Given the description of an element on the screen output the (x, y) to click on. 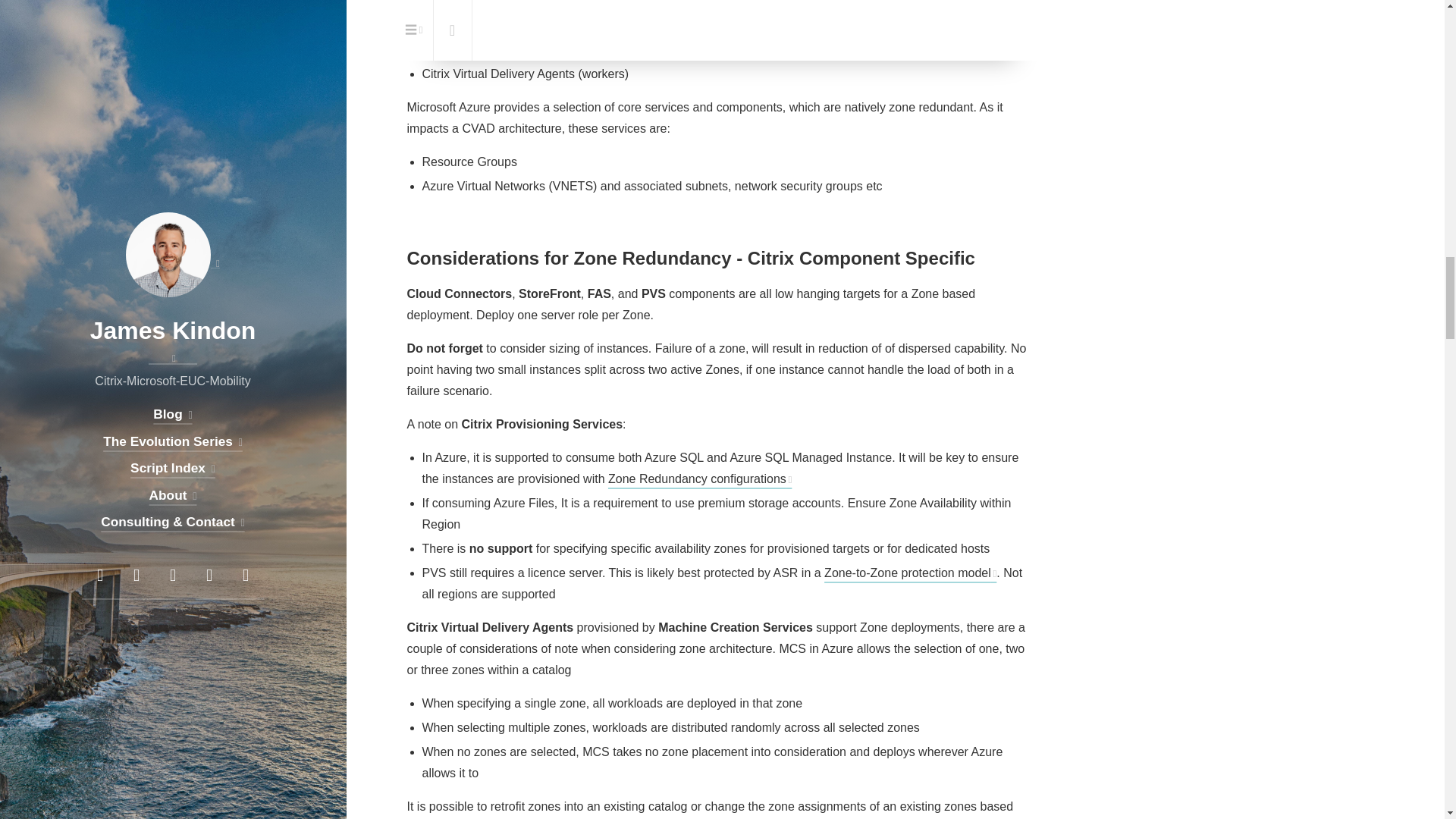
Zone Redundancy configurations (700, 478)
Zone-to-Zone protection model (909, 572)
